Given the description of an element on the screen output the (x, y) to click on. 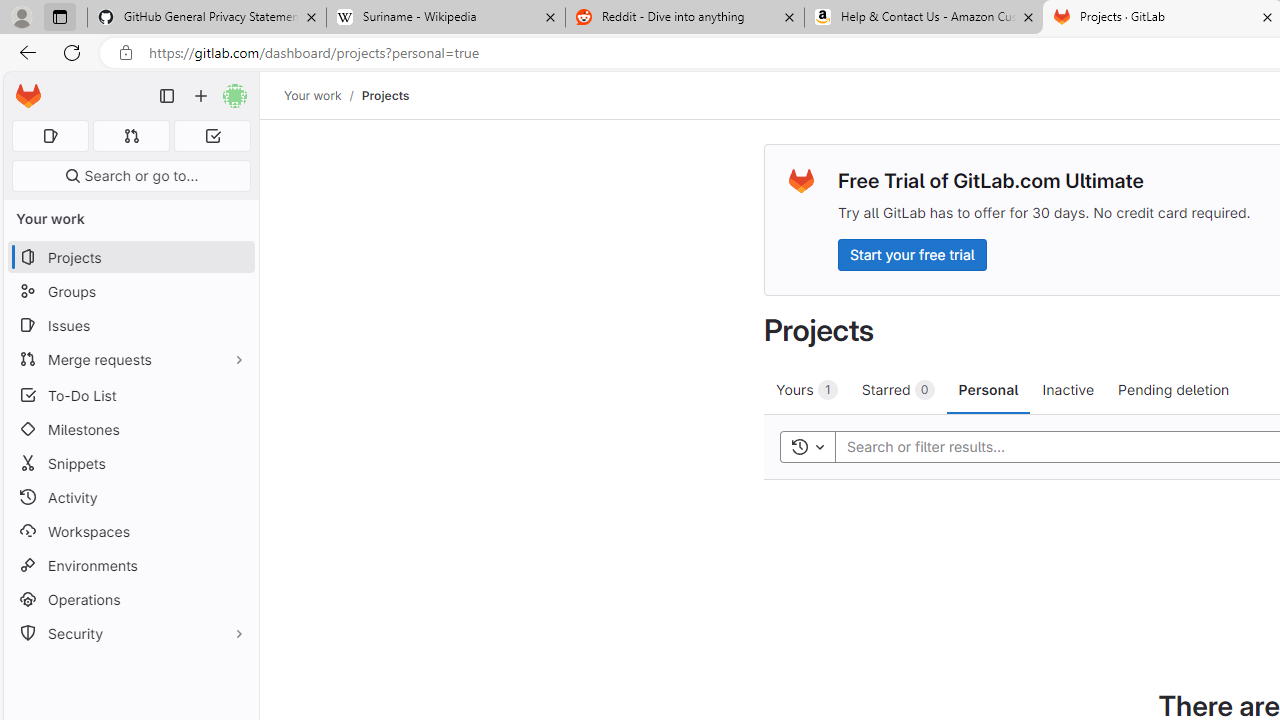
Environments (130, 564)
Skip to main content (23, 87)
Groups (130, 291)
Milestones (130, 429)
Merge requests (130, 358)
Starred 0 (897, 389)
Projects (384, 95)
Activity (130, 497)
Projects (384, 95)
Assigned issues 0 (50, 136)
To-Do List (130, 394)
Personal (987, 389)
Suriname - Wikipedia (445, 17)
Security (130, 633)
